Given the description of an element on the screen output the (x, y) to click on. 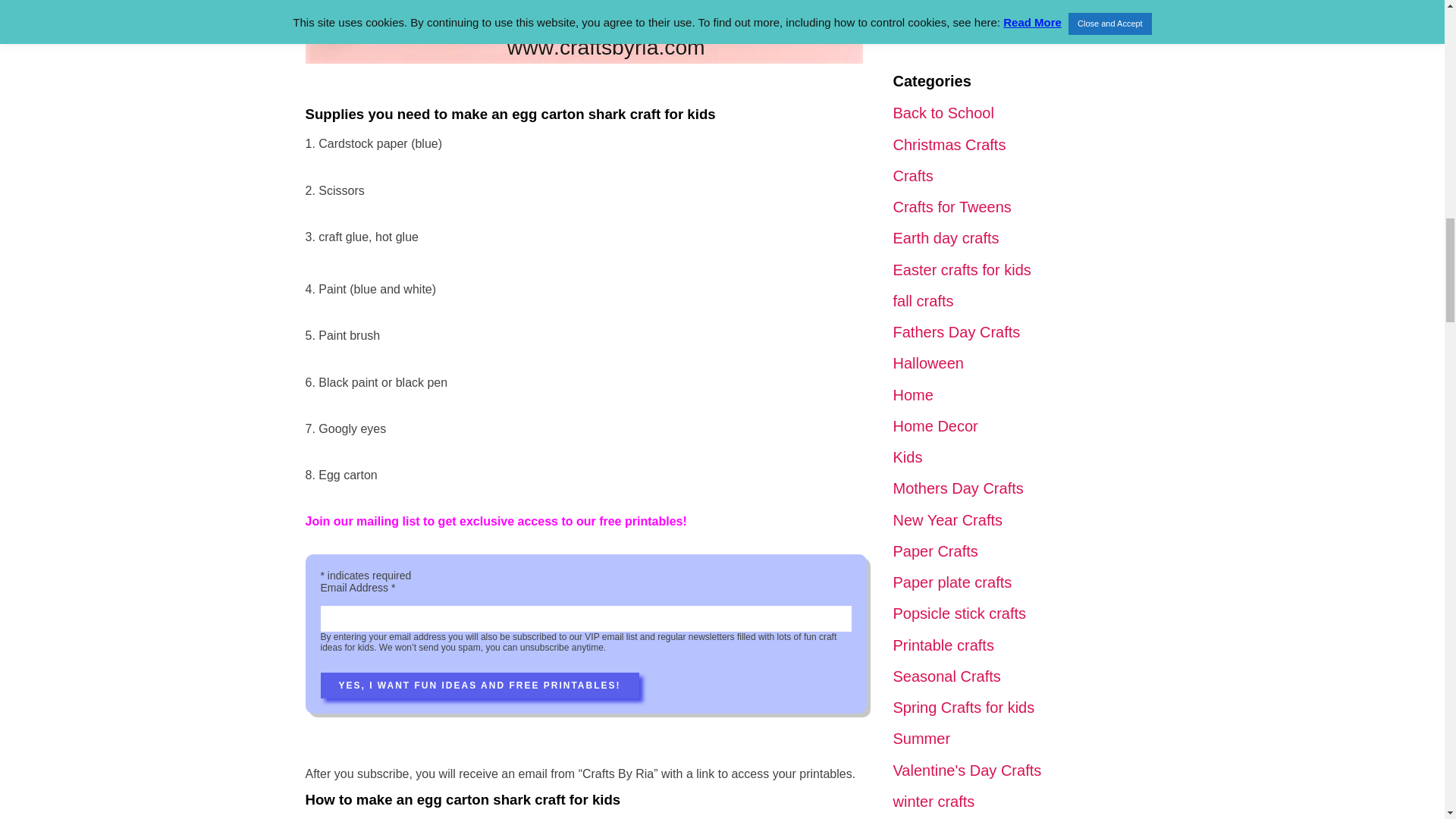
YES, I WANT FUN IDEAS AND FREE PRINTABLES! (479, 685)
